Given the description of an element on the screen output the (x, y) to click on. 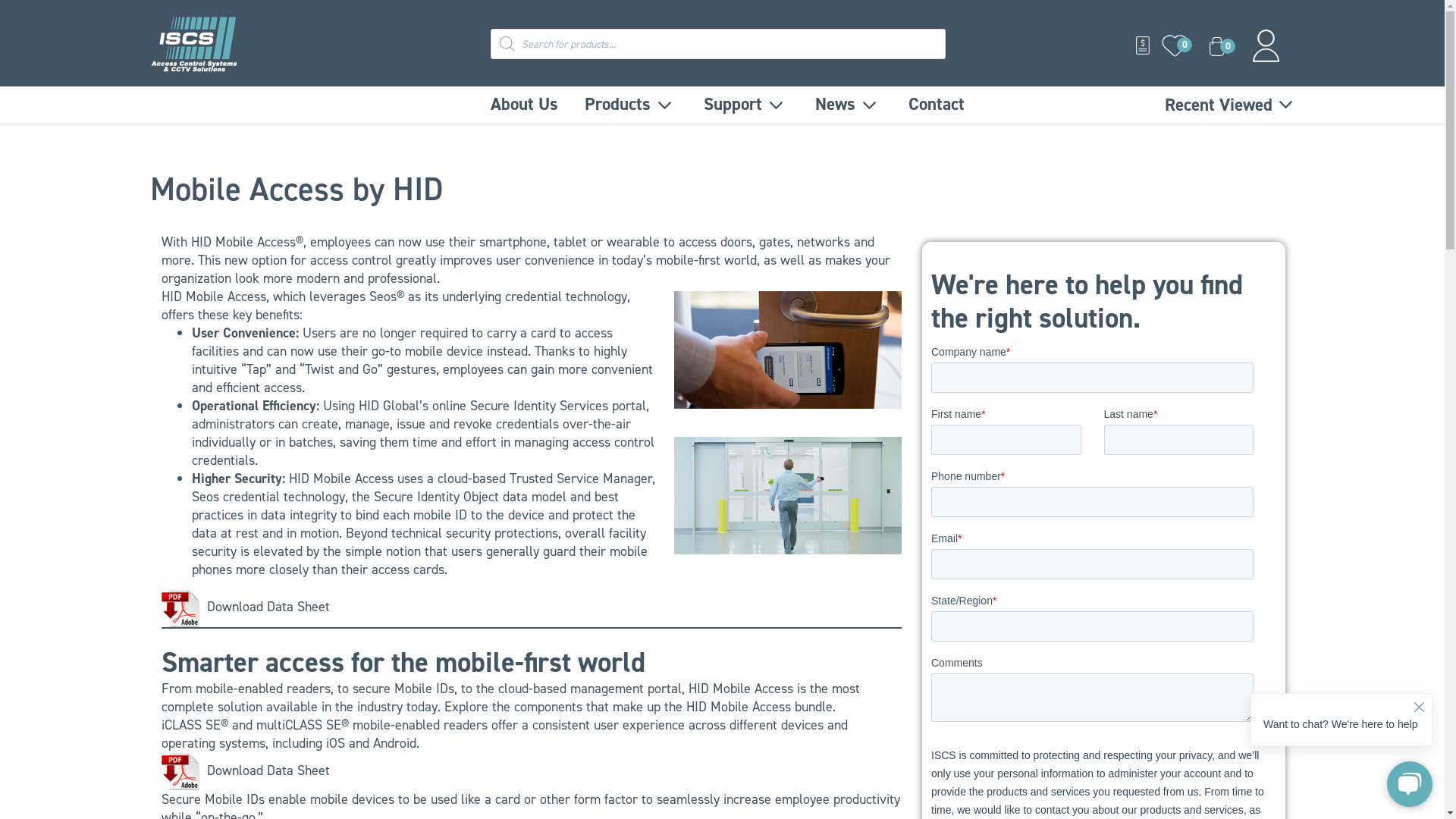
Support Element type: text (745, 104)
0 Element type: text (1174, 45)
News Element type: text (848, 104)
Contact Element type: text (936, 104)
Products Element type: text (630, 104)
  Download Data Sheet Element type: text (244, 770)
0 Element type: text (1217, 44)
  Download Data Sheet Element type: text (244, 606)
About Us Element type: text (524, 104)
